Given the description of an element on the screen output the (x, y) to click on. 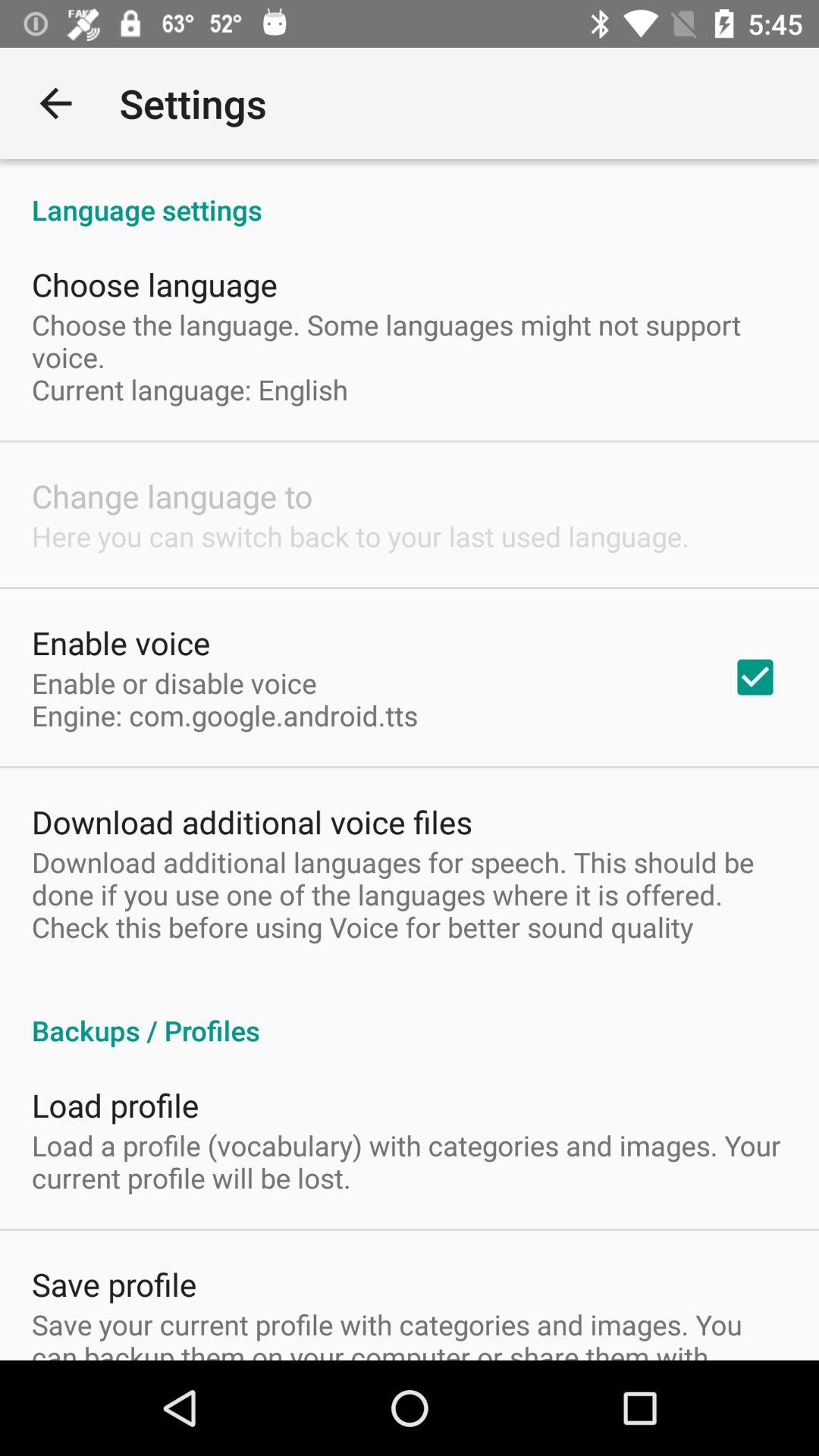
scroll to the enable or disable icon (224, 699)
